Given the description of an element on the screen output the (x, y) to click on. 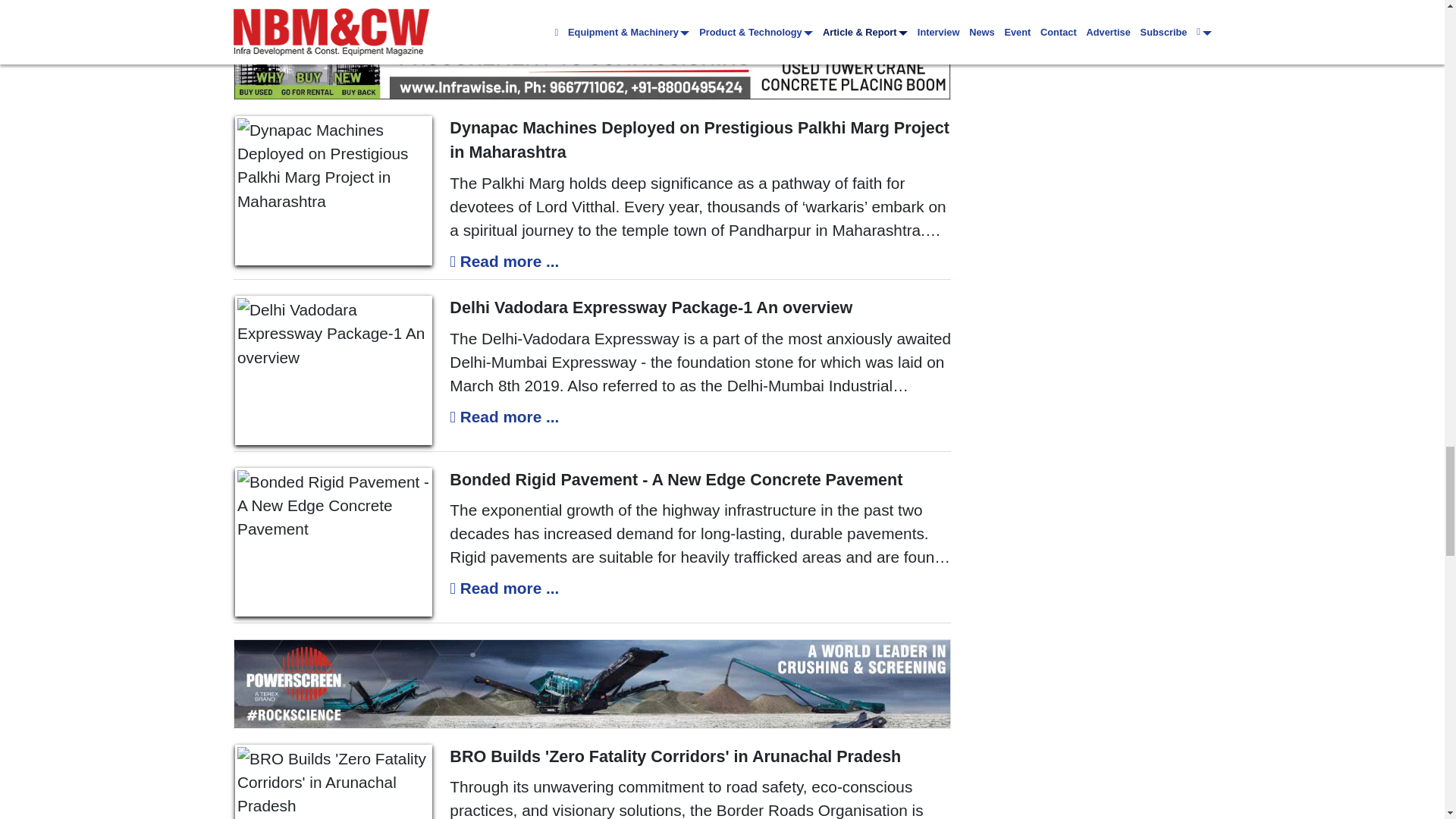
INFRAWISE - Used Tower Crane, Concrete Placing Boom (591, 55)
